Given the description of an element on the screen output the (x, y) to click on. 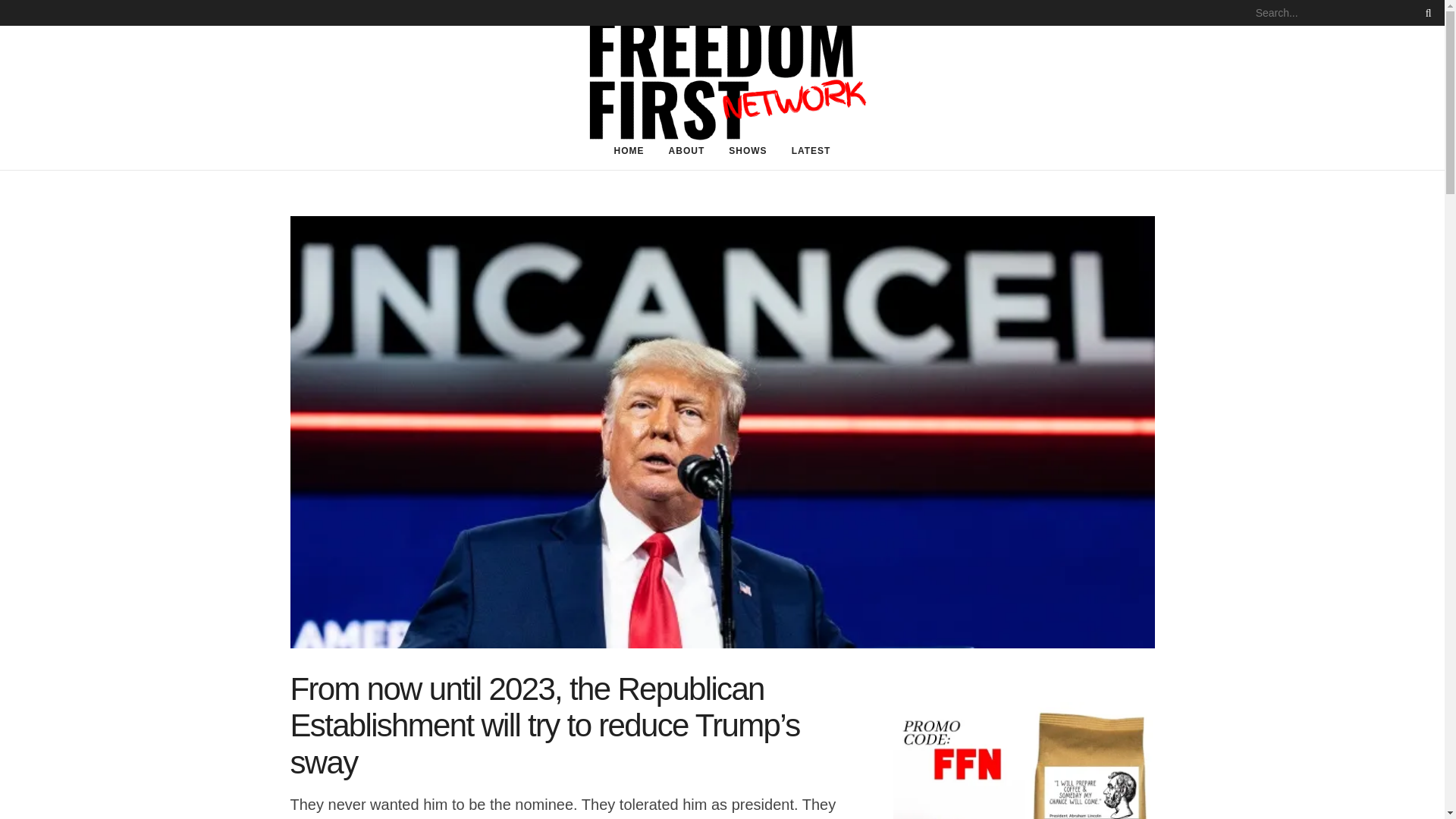
LATEST (810, 150)
ABOUT (686, 150)
SHOWS (747, 150)
HOME (629, 150)
